Given the description of an element on the screen output the (x, y) to click on. 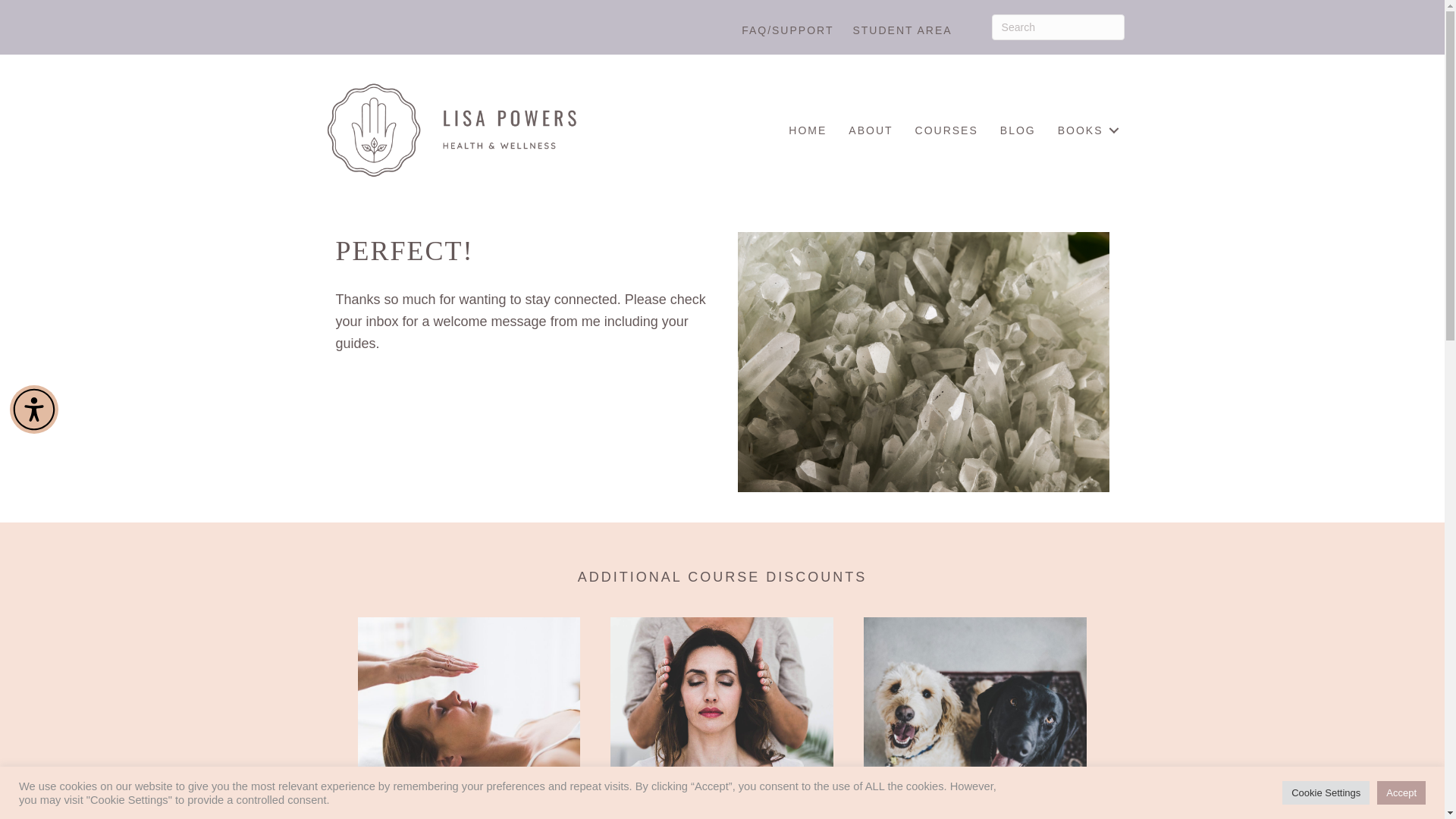
Crystal Gift (922, 361)
Reiki Online Course to Balance (721, 718)
BLOG (1018, 130)
HOME (807, 130)
COURSES (946, 130)
STUDENT AREA (901, 30)
Type and press Enter to search. (1057, 27)
Animal-Reiki (974, 718)
BOOKS (1085, 130)
Lisa-Powers (450, 130)
ABOUT (870, 130)
Accessibility Menu (34, 409)
